Given the description of an element on the screen output the (x, y) to click on. 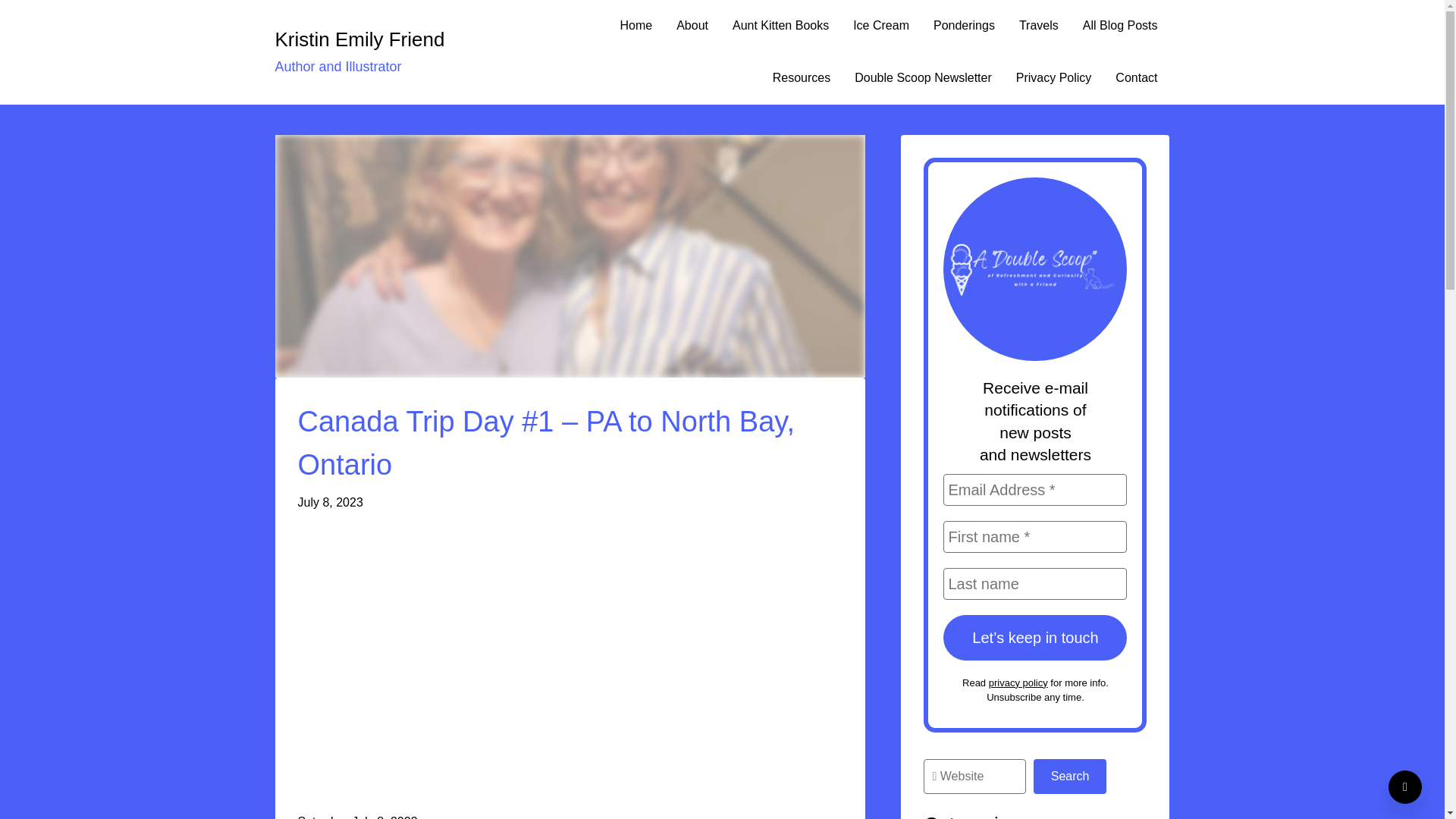
Aunt Kitten Books (780, 26)
Search (1069, 776)
Ponderings (964, 26)
Ice Cream (881, 26)
Contact (1136, 78)
All Blog Posts (1120, 26)
About (691, 26)
Resources (801, 78)
July 8, 2023 (329, 502)
Home (635, 26)
Email Address (1034, 490)
Privacy Policy (1053, 78)
privacy policy (1018, 682)
First name (1034, 536)
To Top (1405, 786)
